Given the description of an element on the screen output the (x, y) to click on. 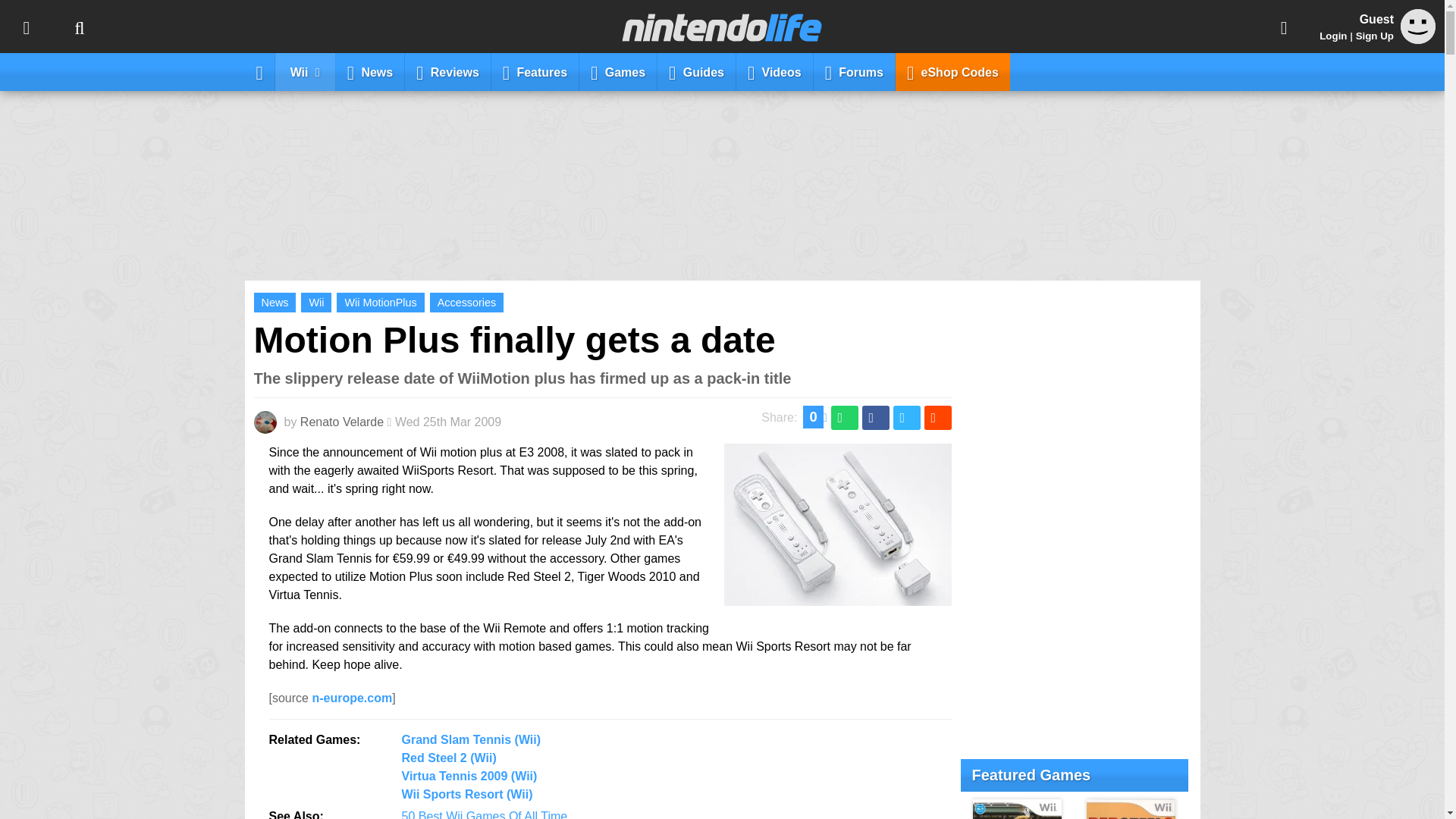
Share this on Twitter (906, 417)
Features (535, 71)
News (274, 302)
Share this on Facebook (874, 417)
Login (1332, 35)
Motion Plus finally gets a date (513, 340)
Wii MotionPlus (379, 302)
Share this on Reddit (936, 417)
eShop Codes (952, 71)
Sign Up (1374, 35)
Videos (774, 71)
Nintendo Life (721, 27)
Nintendo Life (721, 27)
Share This Page (1283, 26)
Forums (854, 71)
